Given the description of an element on the screen output the (x, y) to click on. 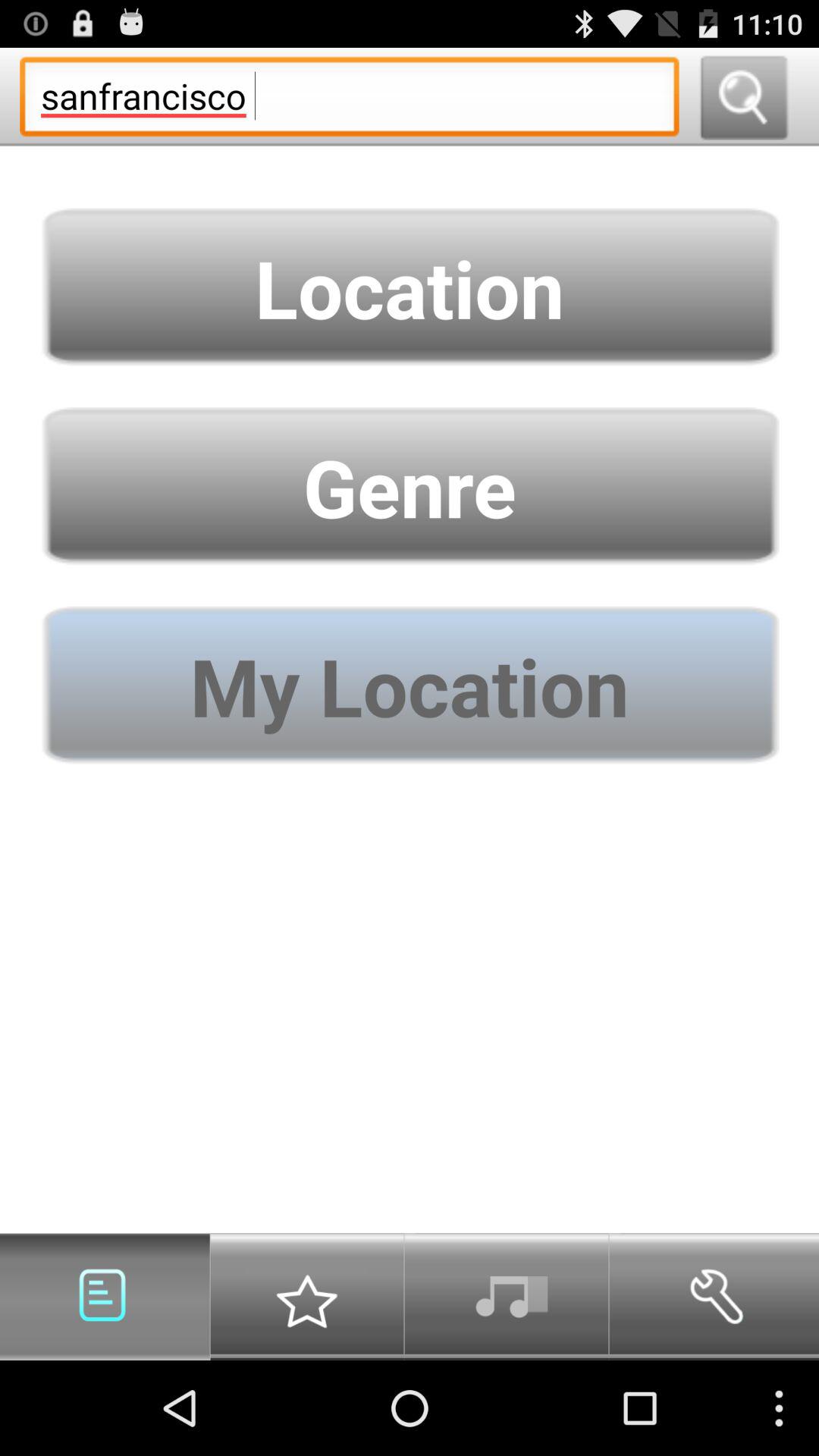
search button (743, 96)
